Given the description of an element on the screen output the (x, y) to click on. 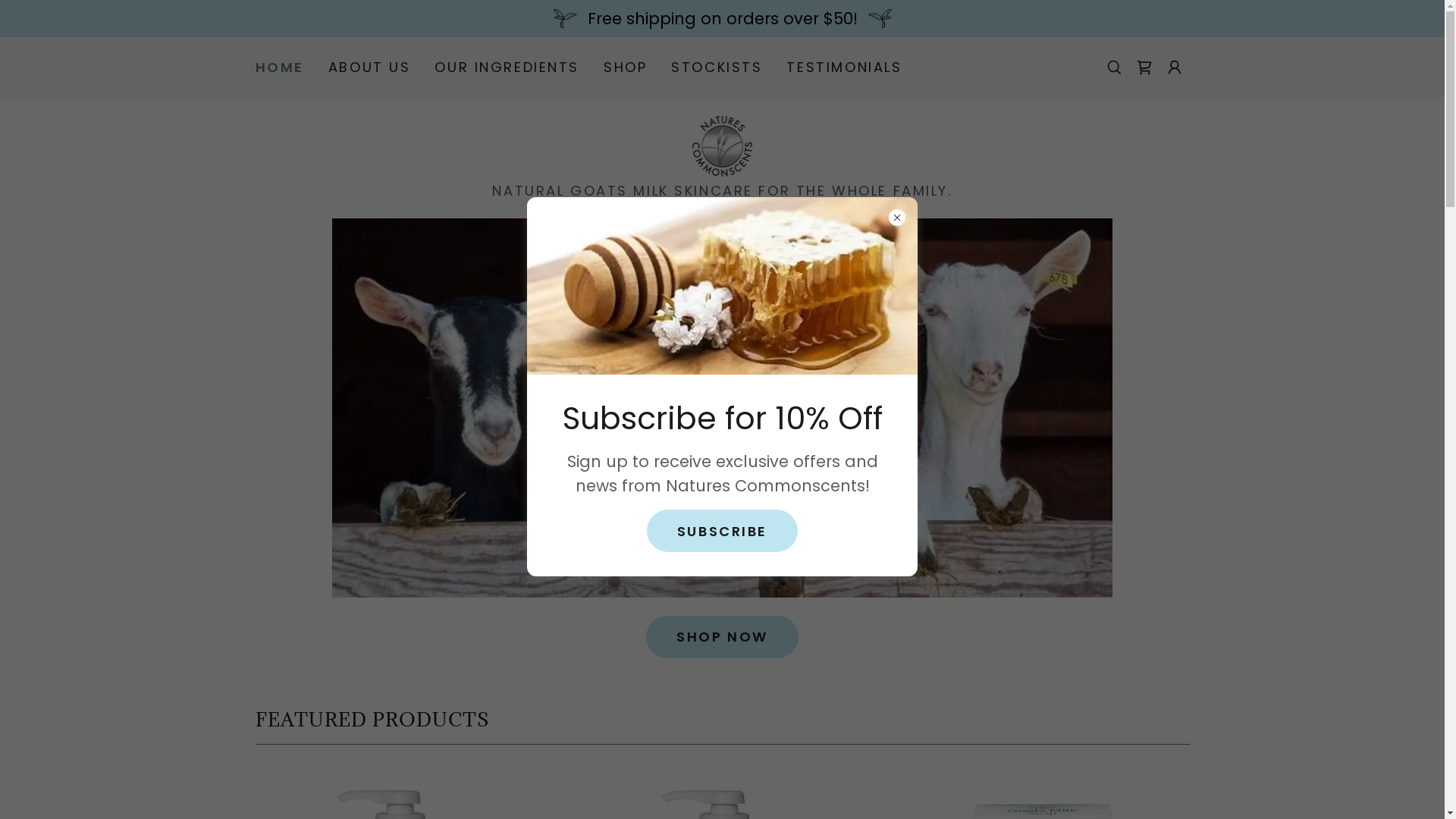
Natures Commonscents Element type: hover (722, 145)
ABOUT US Element type: text (369, 67)
HOME Element type: text (278, 67)
OUR INGREDIENTS Element type: text (506, 67)
TESTIMONIALS Element type: text (843, 67)
SHOP Element type: text (625, 67)
SHOP NOW Element type: text (722, 636)
SUBSCRIBE Element type: text (721, 530)
STOCKISTS Element type: text (716, 67)
